Given the description of an element on the screen output the (x, y) to click on. 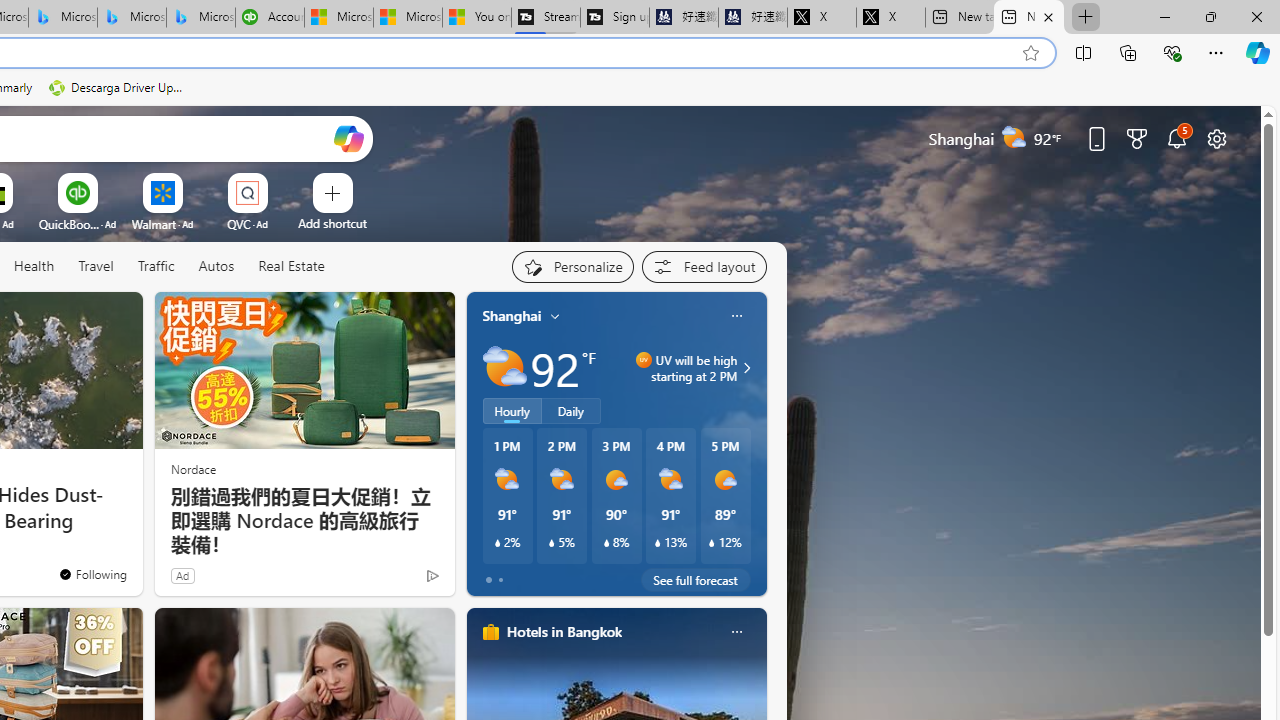
Feed settings (703, 266)
See full forecast (695, 579)
